Given the description of an element on the screen output the (x, y) to click on. 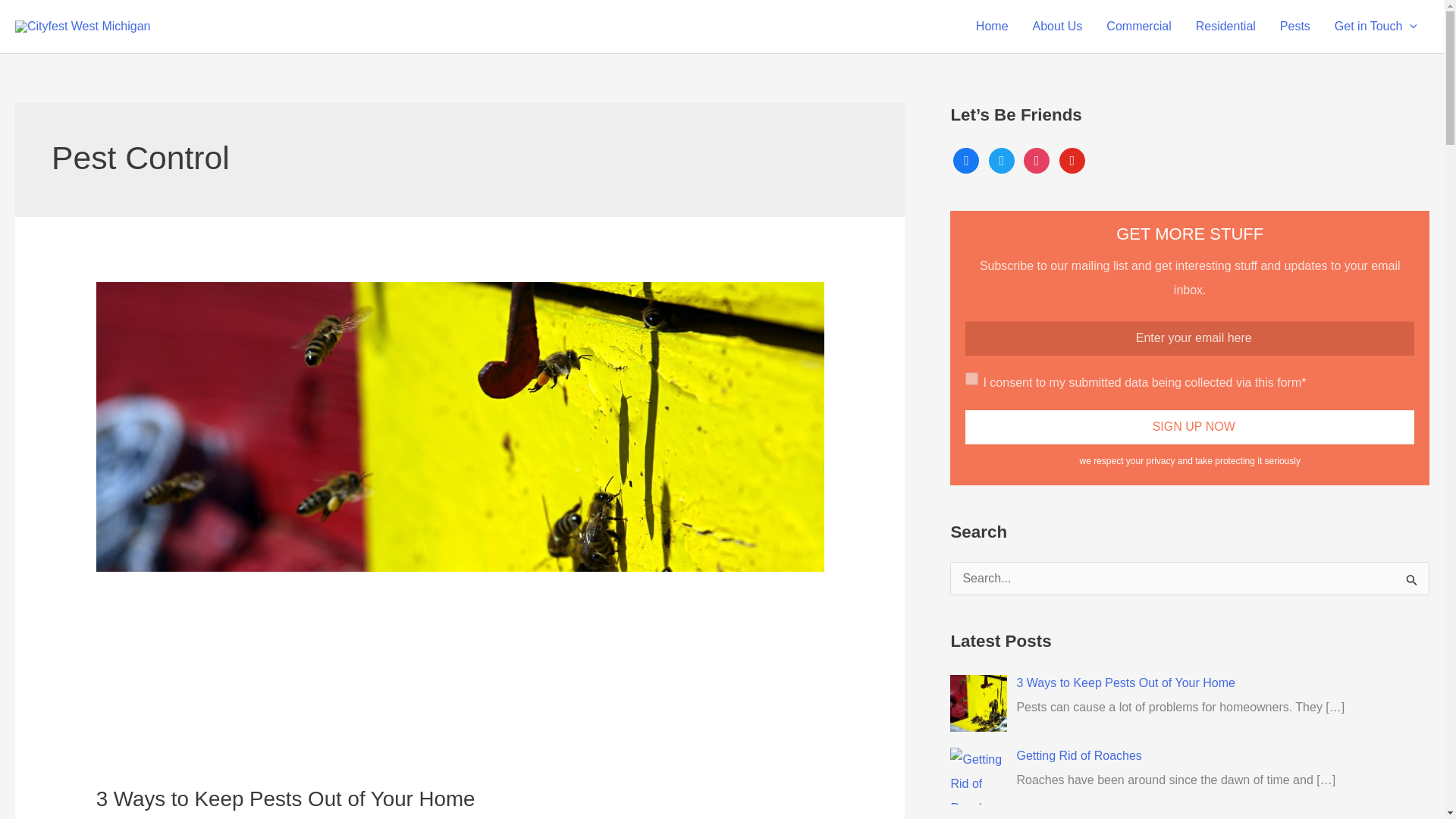
Instagram (1036, 159)
Home (991, 26)
3 Ways to Keep Pests Out of Your Home (286, 798)
Pests (1295, 26)
Default Label (1071, 159)
Residential (1225, 26)
on (971, 378)
Sign Up Now (1189, 427)
About Us (1057, 26)
Get in Touch (1375, 26)
